Given the description of an element on the screen output the (x, y) to click on. 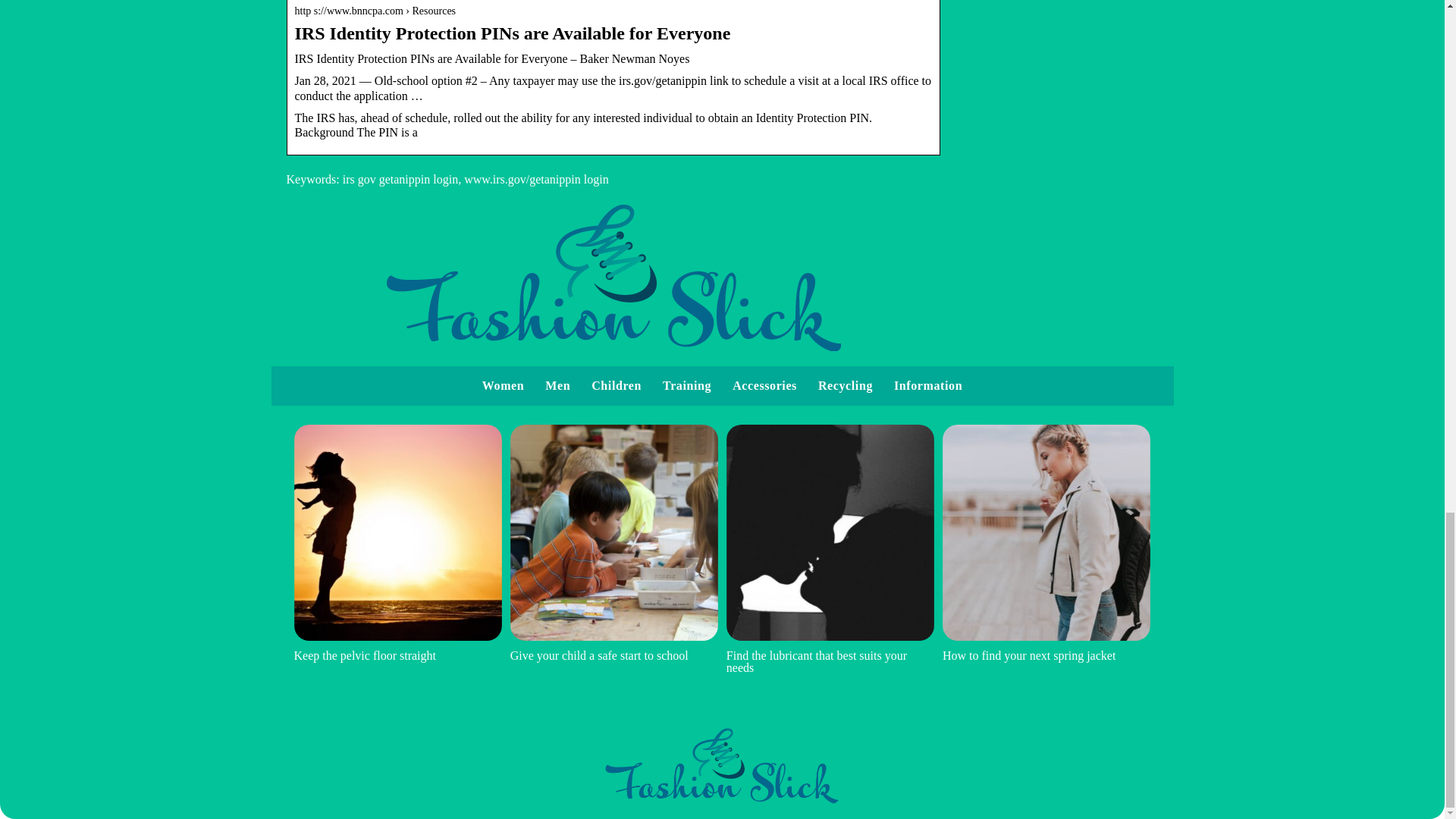
Children (616, 385)
Men (557, 385)
Accessories (764, 385)
Women (502, 385)
Information (927, 385)
Training (686, 385)
Recycling (845, 385)
